Given the description of an element on the screen output the (x, y) to click on. 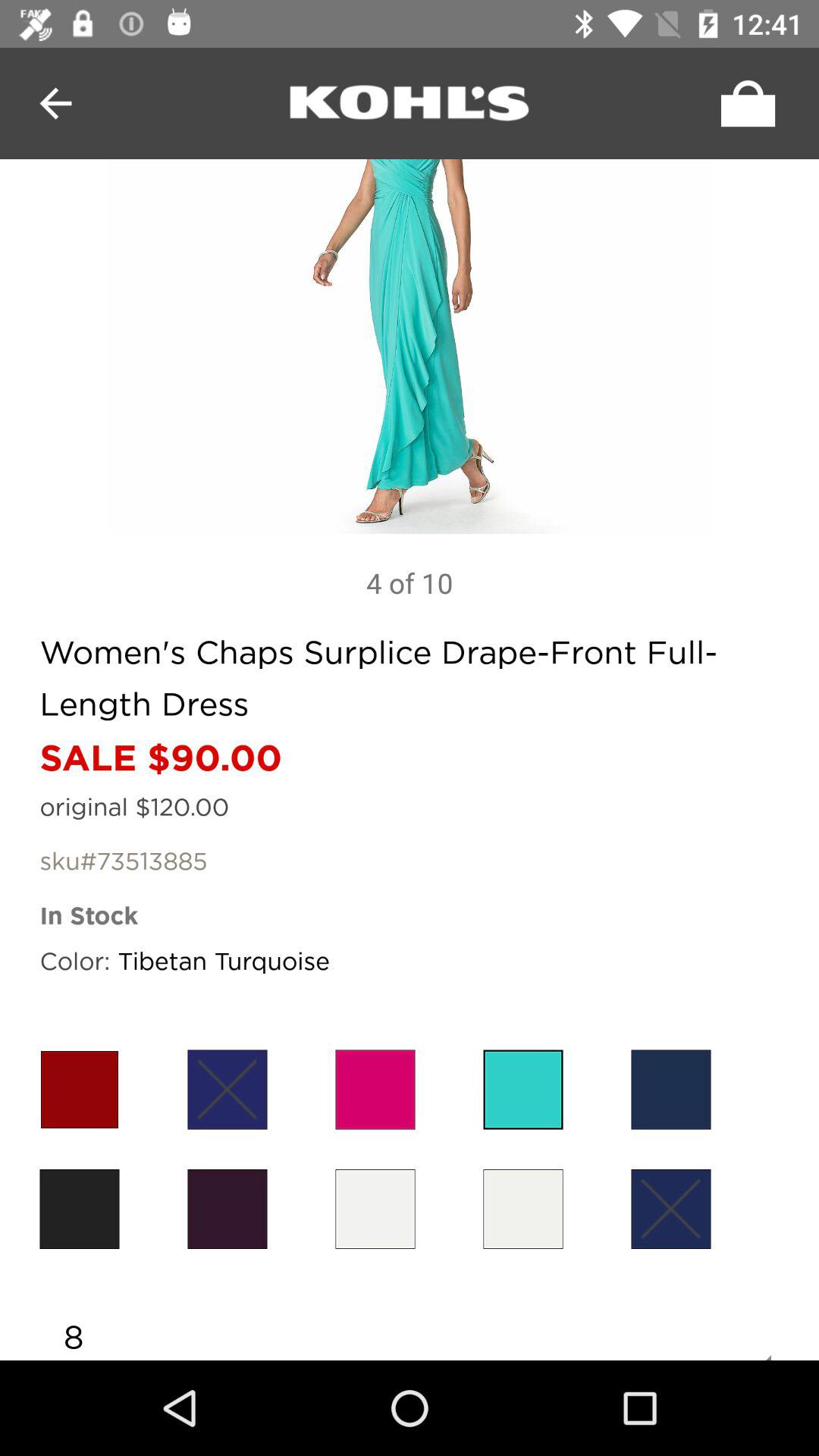
check photo (409, 346)
